Given the description of an element on the screen output the (x, y) to click on. 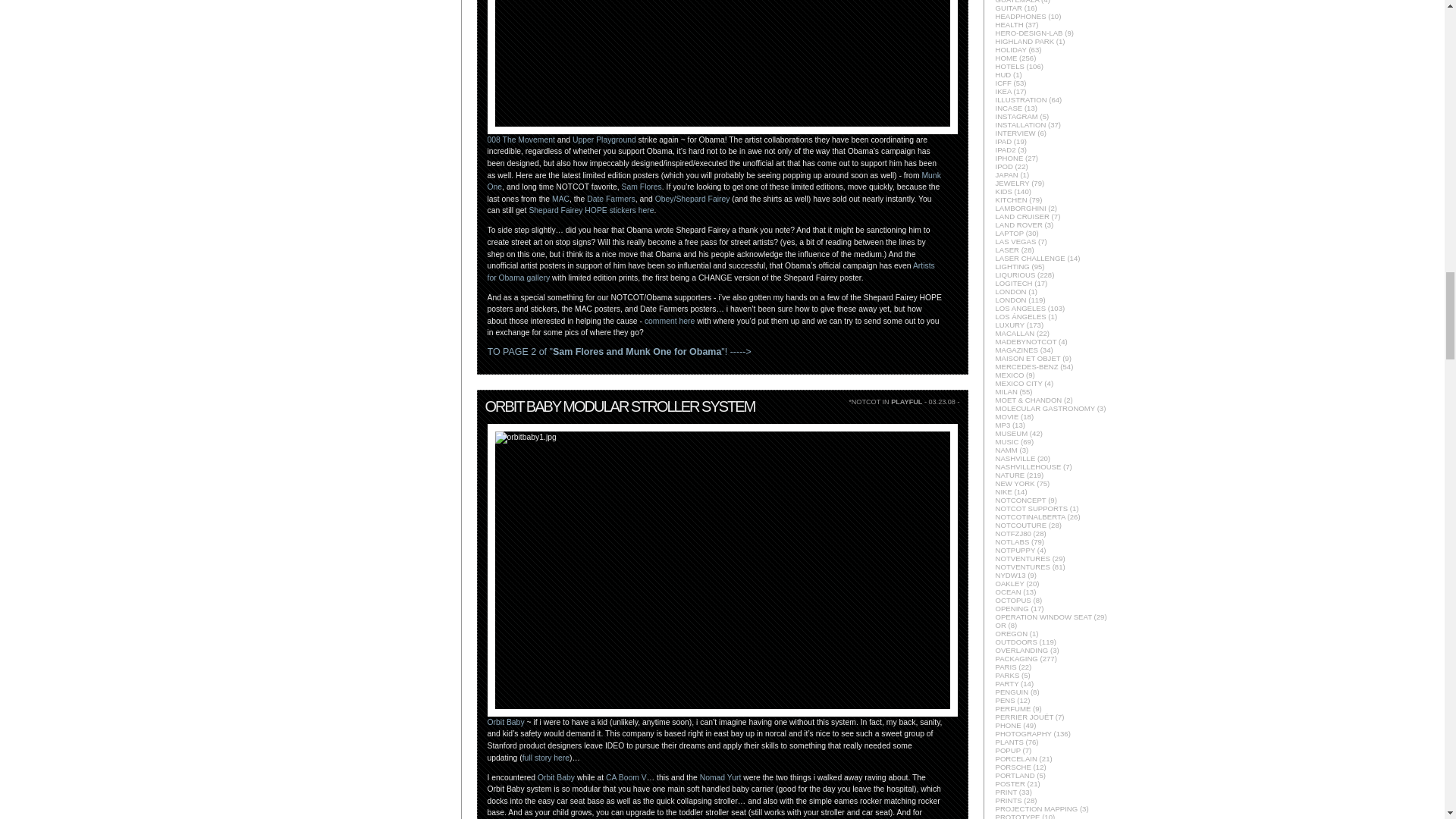
Upper Playground (604, 139)
008 The Movement (520, 139)
